Given the description of an element on the screen output the (x, y) to click on. 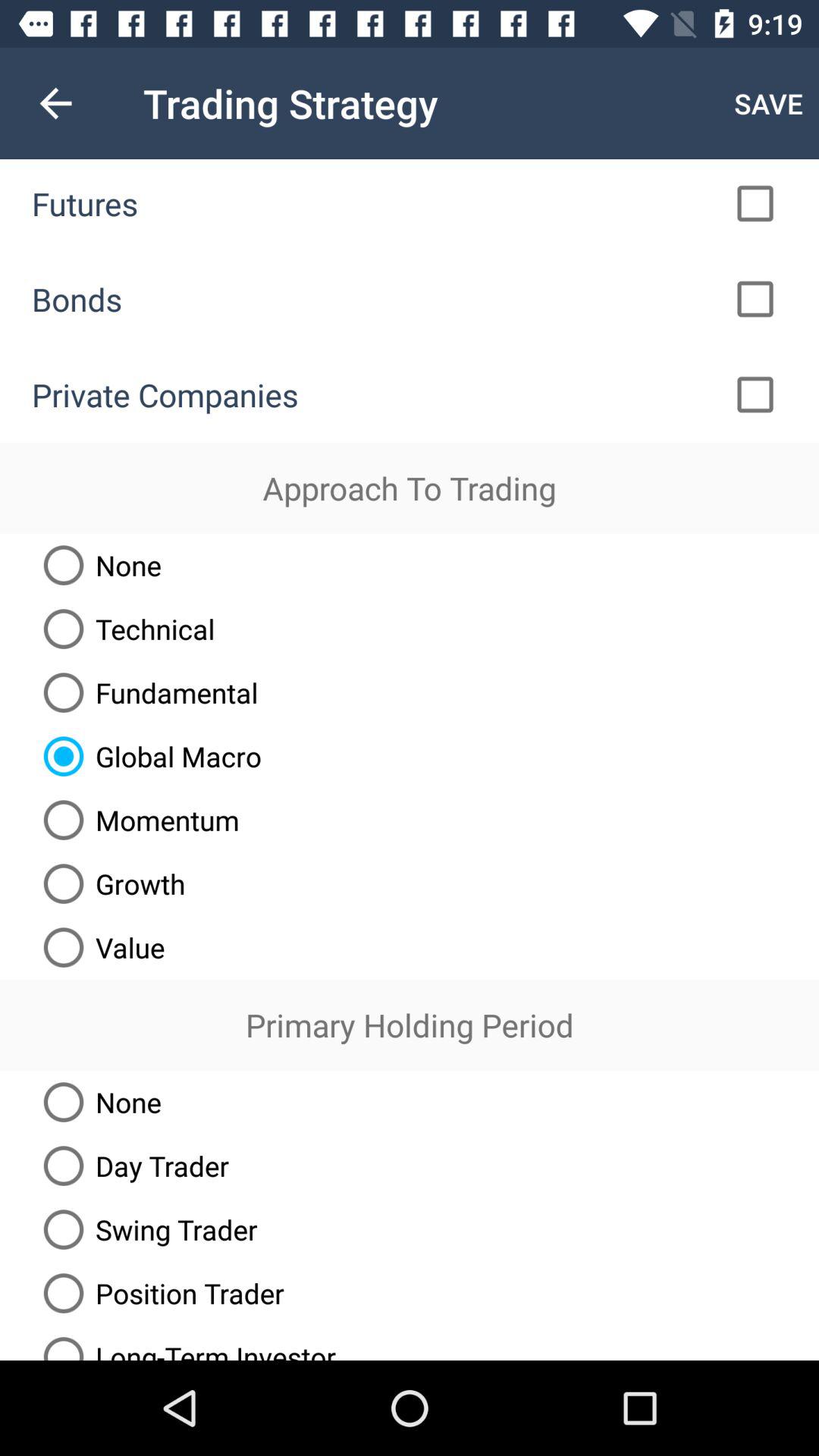
turn off radio button below swing trader (157, 1293)
